Given the description of an element on the screen output the (x, y) to click on. 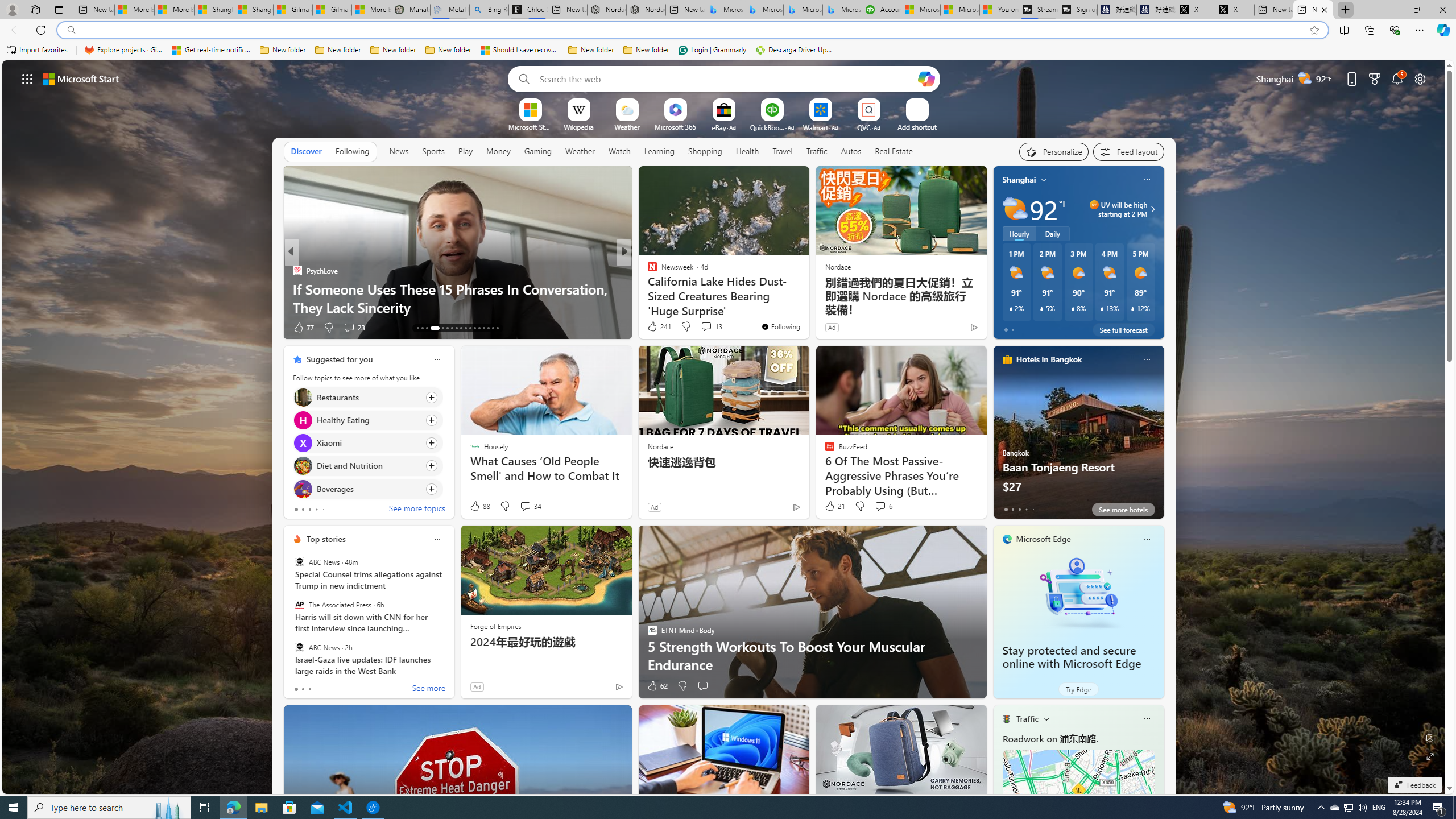
See more hotels (1123, 509)
2 Like (651, 327)
View comments 34 Comment (530, 505)
AutomationID: tab-29 (497, 328)
